Given the description of an element on the screen output the (x, y) to click on. 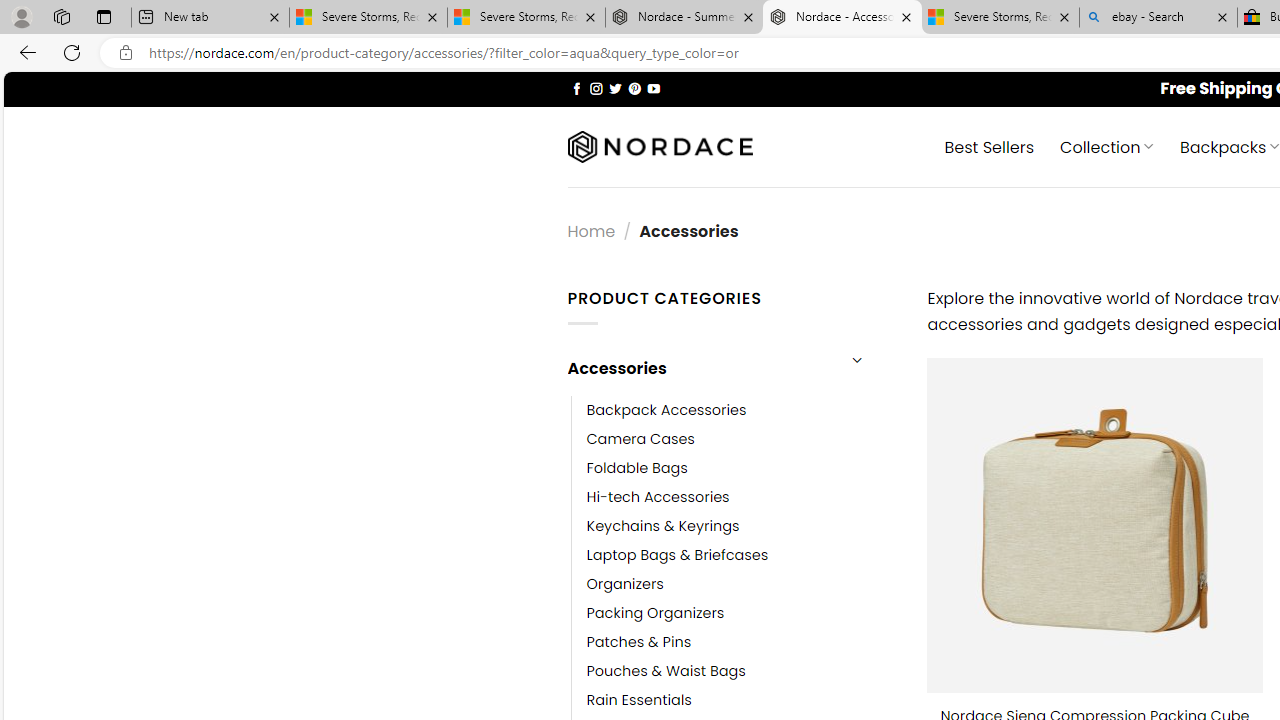
Packing Organizers (742, 614)
Packing Organizers (655, 614)
Laptop Bags & Briefcases (677, 555)
Patches & Pins (639, 642)
Organizers (742, 584)
  Best Sellers (989, 146)
Hi-tech Accessories (657, 496)
Keychains & Keyrings (742, 526)
Organizers (625, 584)
